Given the description of an element on the screen output the (x, y) to click on. 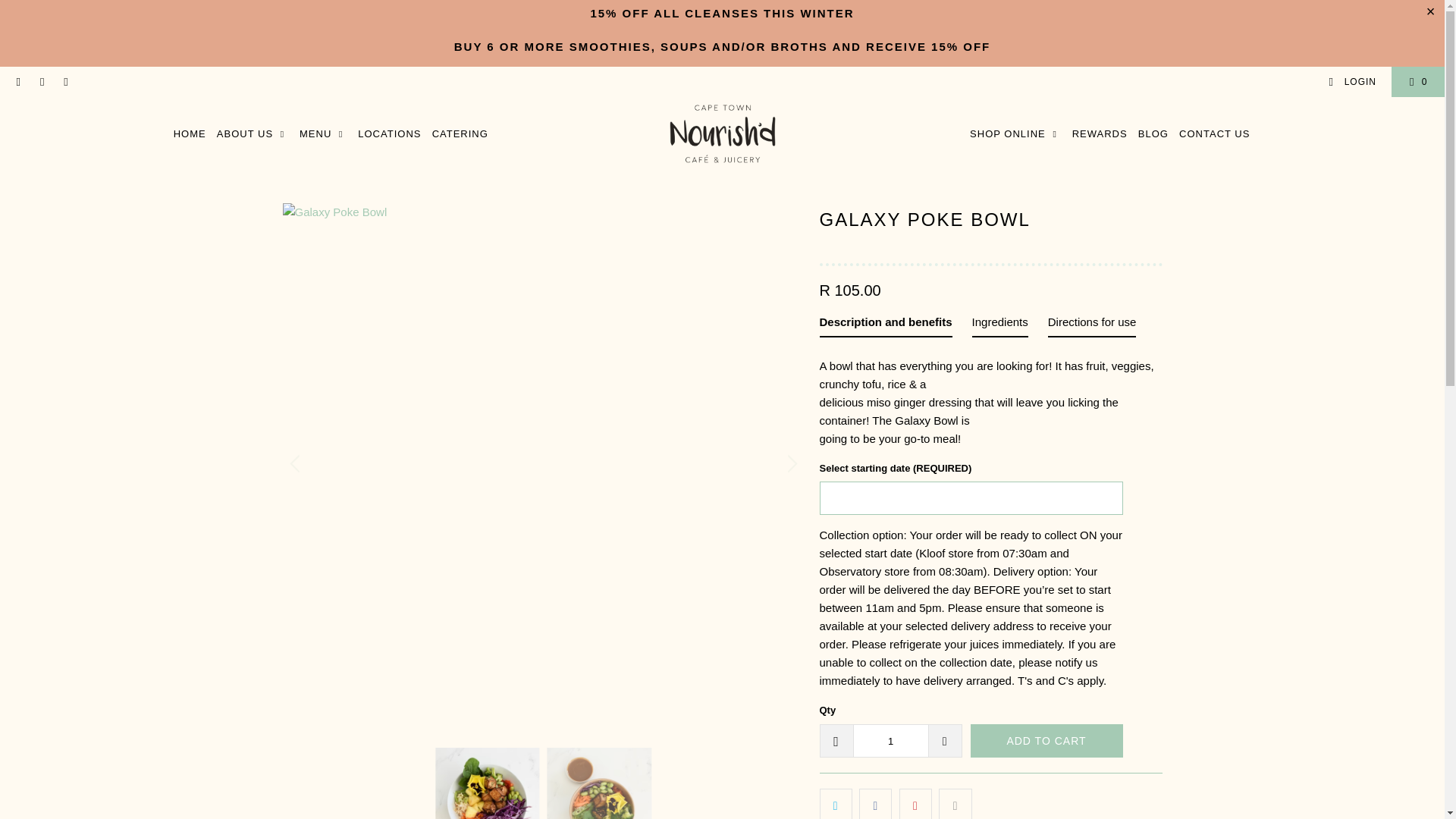
Share this on Twitter (834, 803)
Share this on Facebook (875, 803)
My Account  (1351, 81)
Email this to a friend (955, 803)
Share this on Pinterest (915, 803)
1 (889, 740)
